Given the description of an element on the screen output the (x, y) to click on. 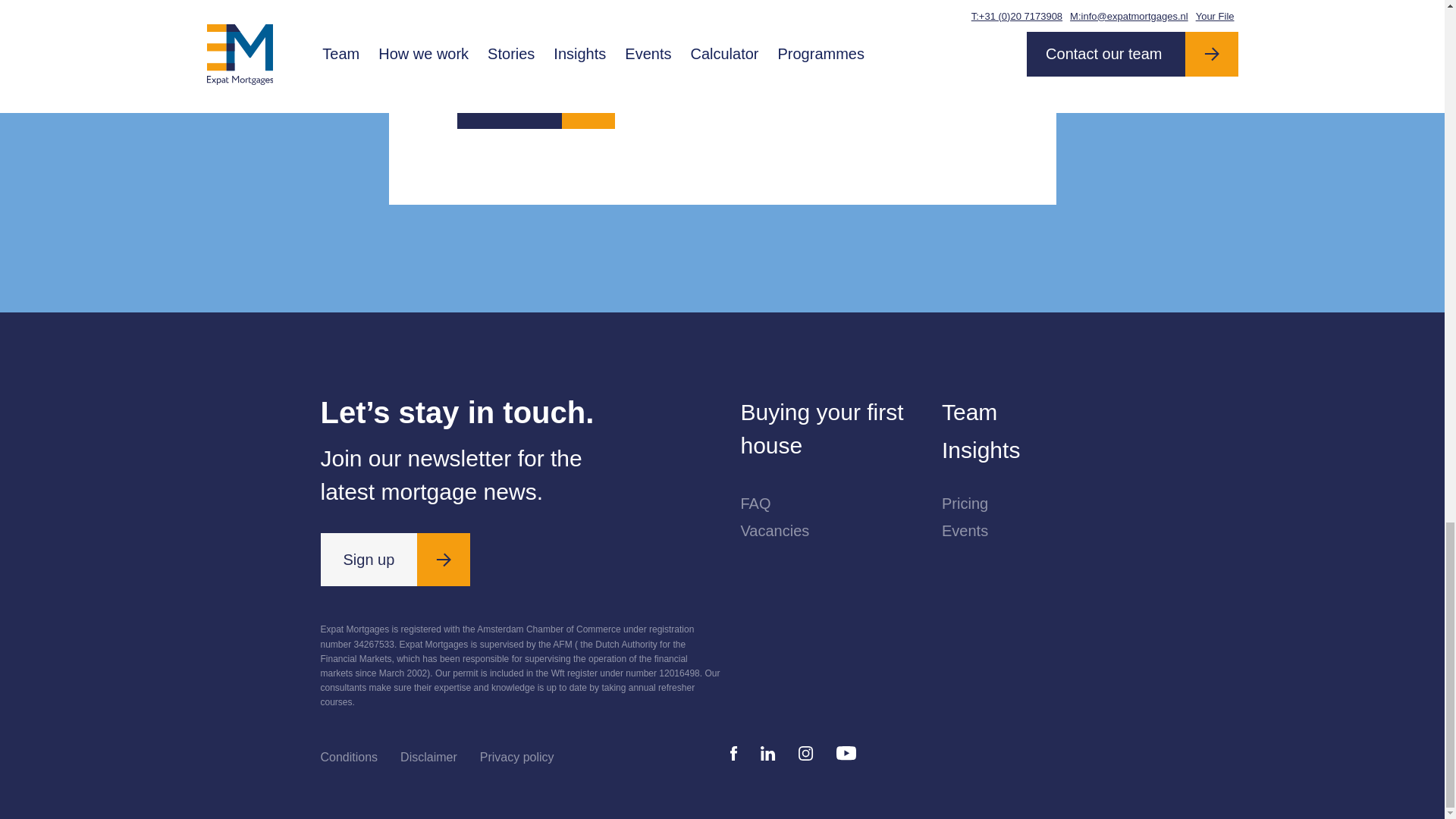
Conditions (348, 757)
Disclaimer (428, 757)
Sign up (395, 559)
Insights (1033, 450)
Events (1033, 530)
FAQ (831, 502)
Privacy policy (517, 757)
Team (1033, 412)
Buying your first house (831, 429)
Pricing (1033, 502)
